Given the description of an element on the screen output the (x, y) to click on. 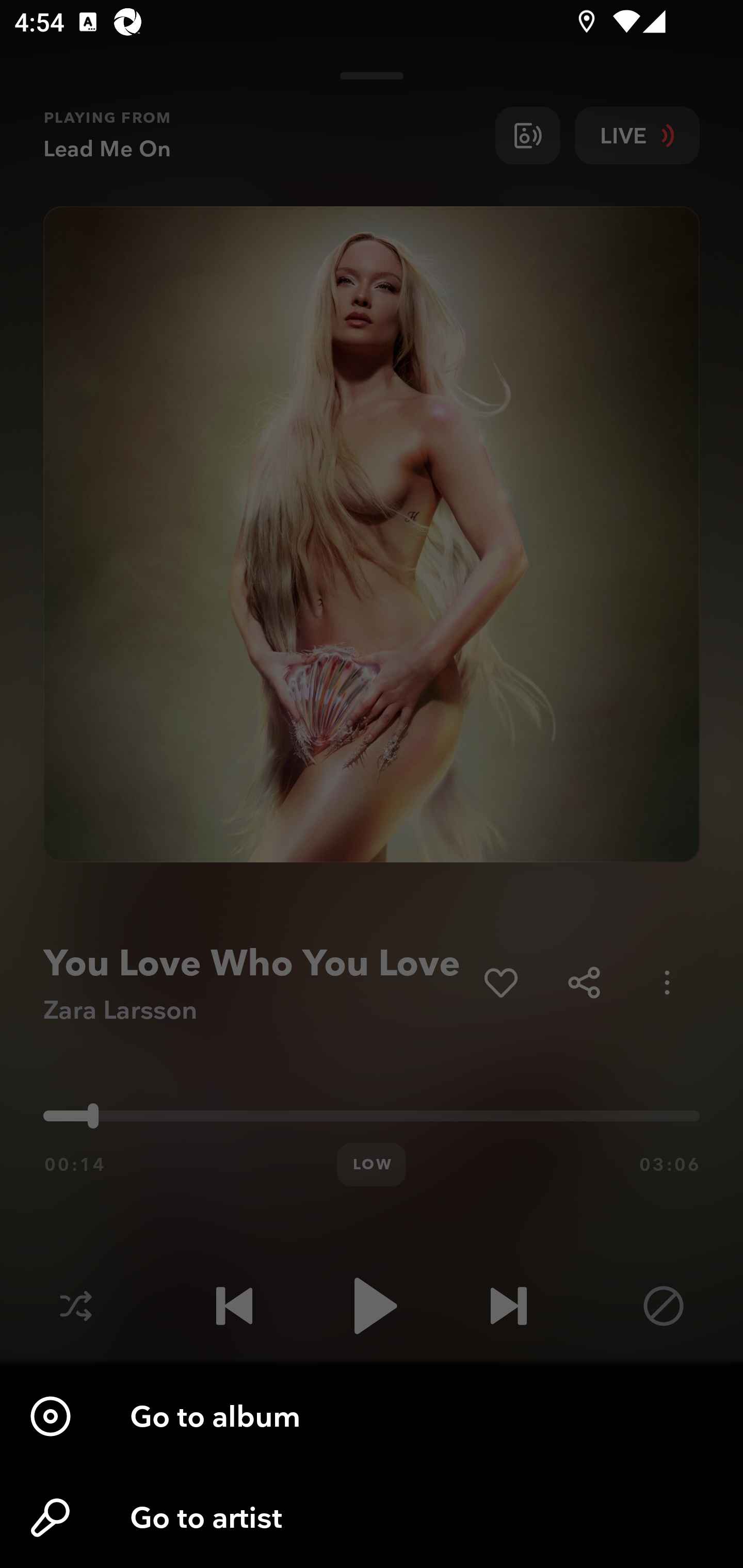
Go to album (371, 1416)
Go to artist (371, 1517)
